Given the description of an element on the screen output the (x, y) to click on. 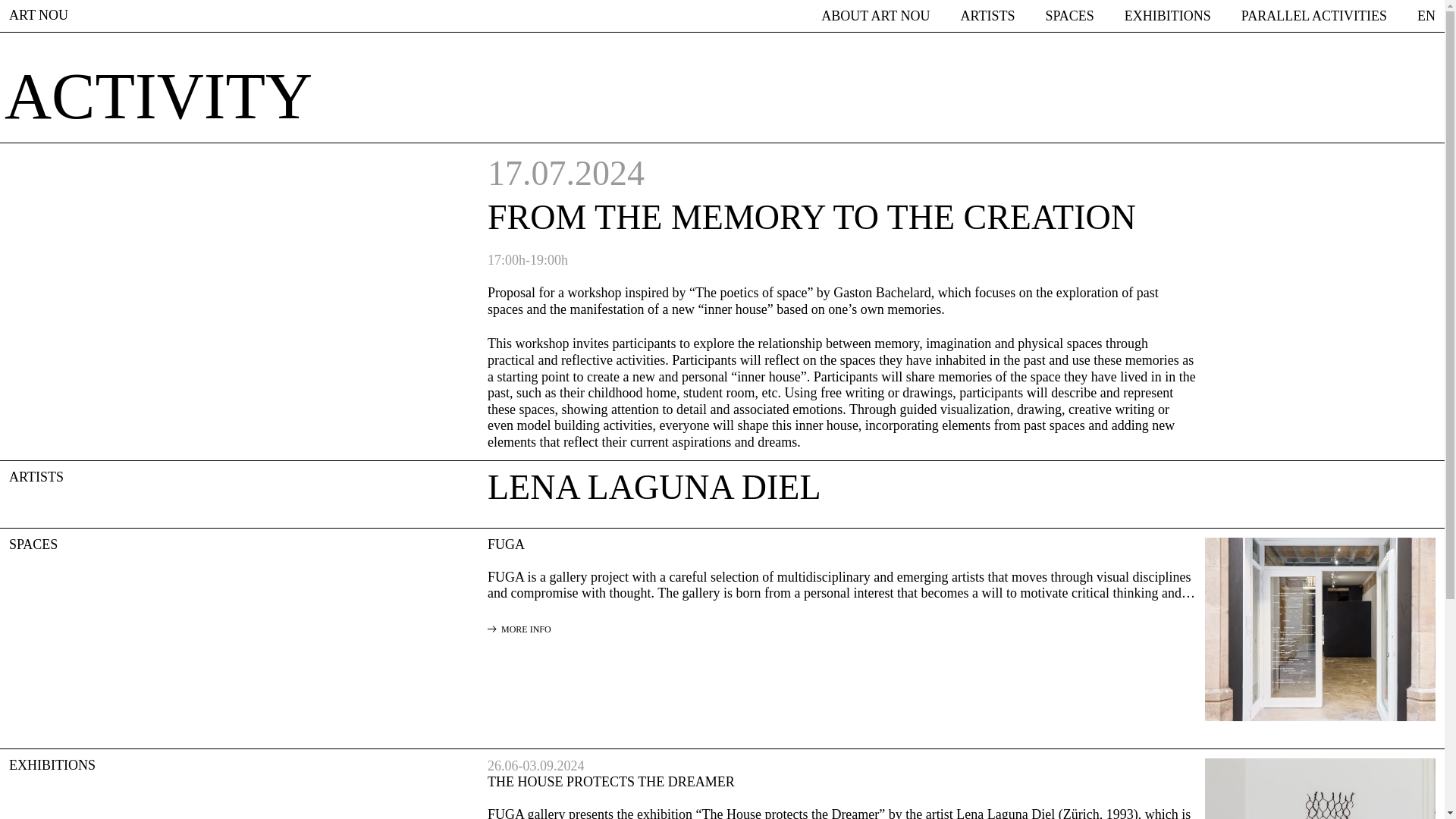
ABOUT ART NOU (875, 15)
ARTISTS (986, 15)
PARALLEL ACTIVITIES (1314, 15)
EXHIBITIONS (1167, 15)
Lena Laguna Diel (654, 486)
SPACES (1069, 15)
LENA LAGUNA DIEL (654, 486)
ART NOU (38, 15)
